Given the description of an element on the screen output the (x, y) to click on. 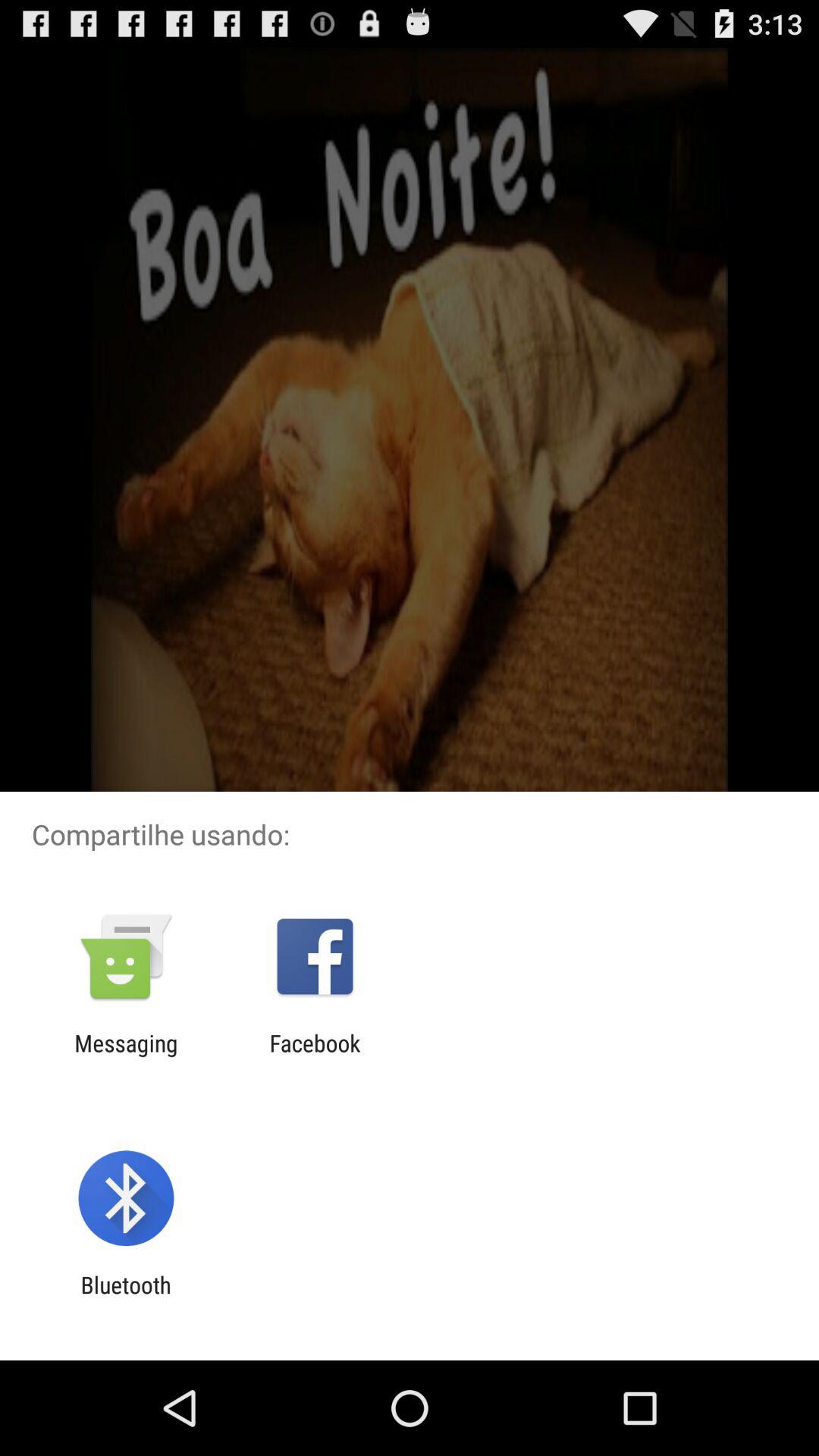
tap messaging icon (126, 1056)
